Given the description of an element on the screen output the (x, y) to click on. 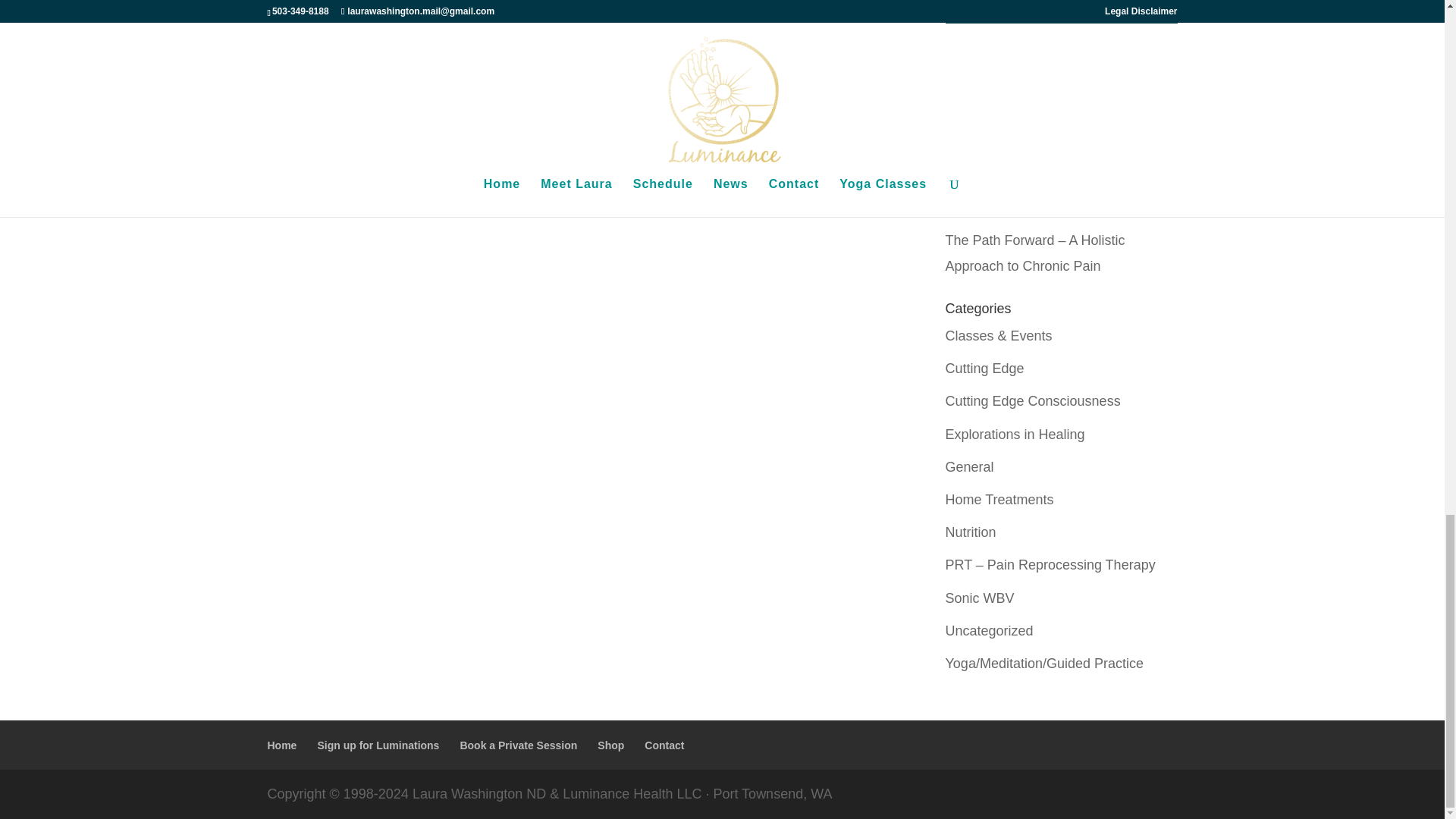
Your Foundation of Health! (1025, 115)
Significant Changes that May Impact You! (1055, 160)
Cutting Edge (983, 368)
Allergy Desensitization (1013, 83)
A New Approach to Addressing Pain (1053, 207)
SUBSCRIBE! (1060, 2)
call recording (330, 164)
